Given the description of an element on the screen output the (x, y) to click on. 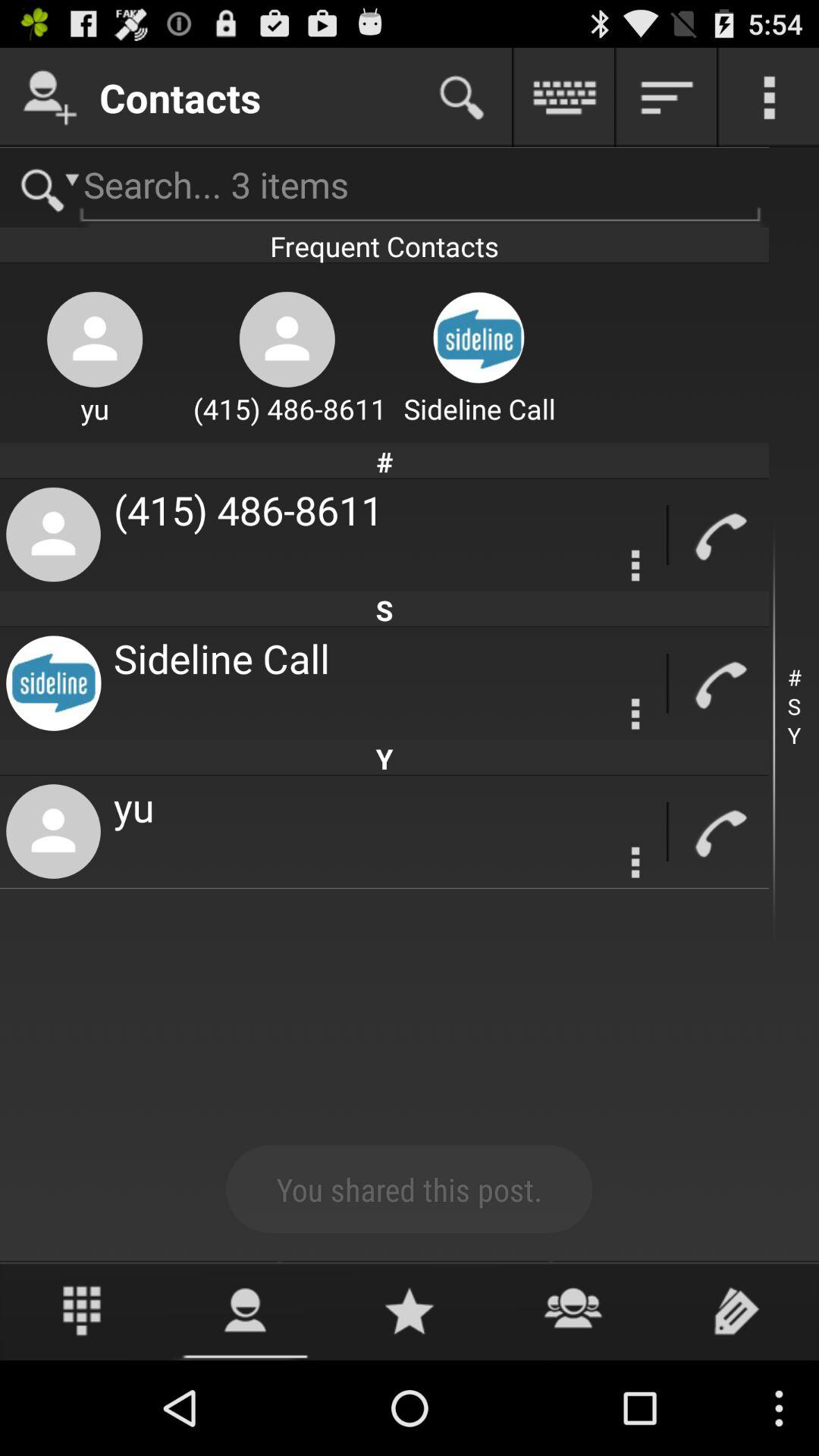
setting option (635, 565)
